Given the description of an element on the screen output the (x, y) to click on. 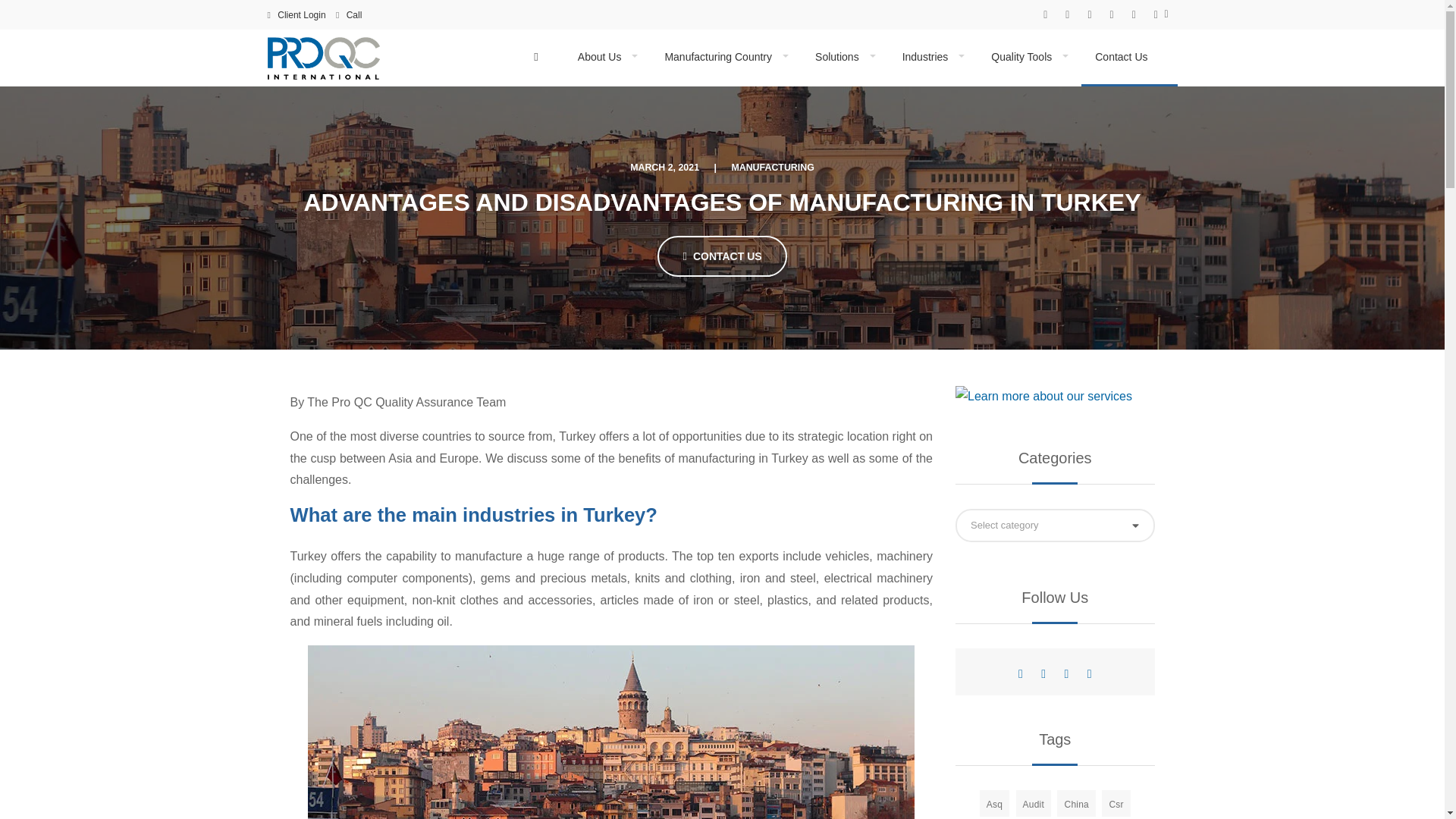
Client Login (299, 14)
LANGUAGE (1160, 14)
Manufacturing Country (726, 57)
Client login (299, 14)
About Us (607, 57)
Call (352, 18)
